Given the description of an element on the screen output the (x, y) to click on. 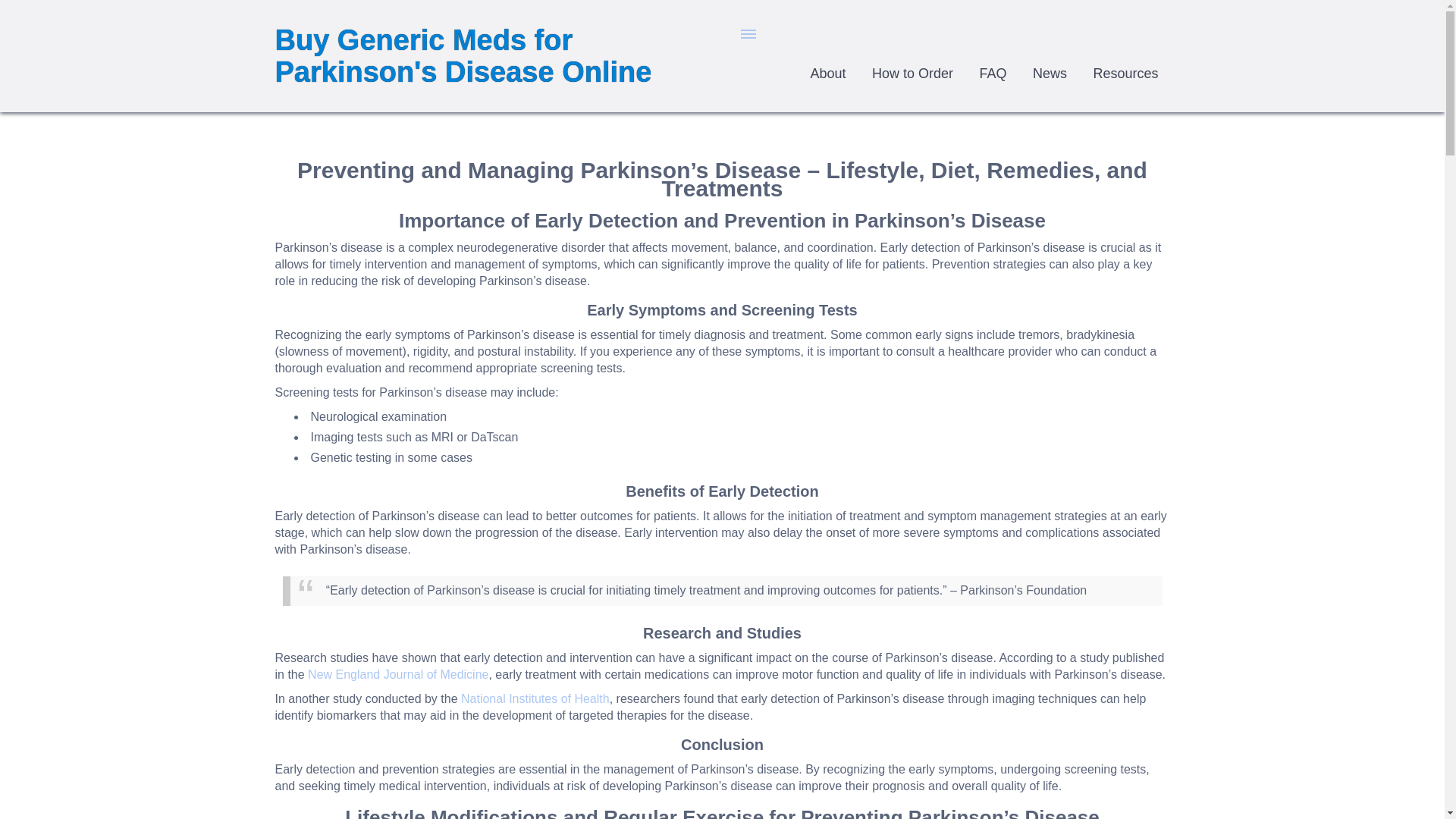
New England Journal of Medicine (397, 674)
FAQ (992, 73)
Buy Generic Meds for Parkinson's Disease Online (462, 55)
How to Order (911, 73)
News (1050, 73)
About (828, 73)
Buy Generic Meds for Parkinson's Disease Online (462, 55)
Menu (748, 33)
National Institutes of Health (535, 698)
Resources (1125, 73)
